Given the description of an element on the screen output the (x, y) to click on. 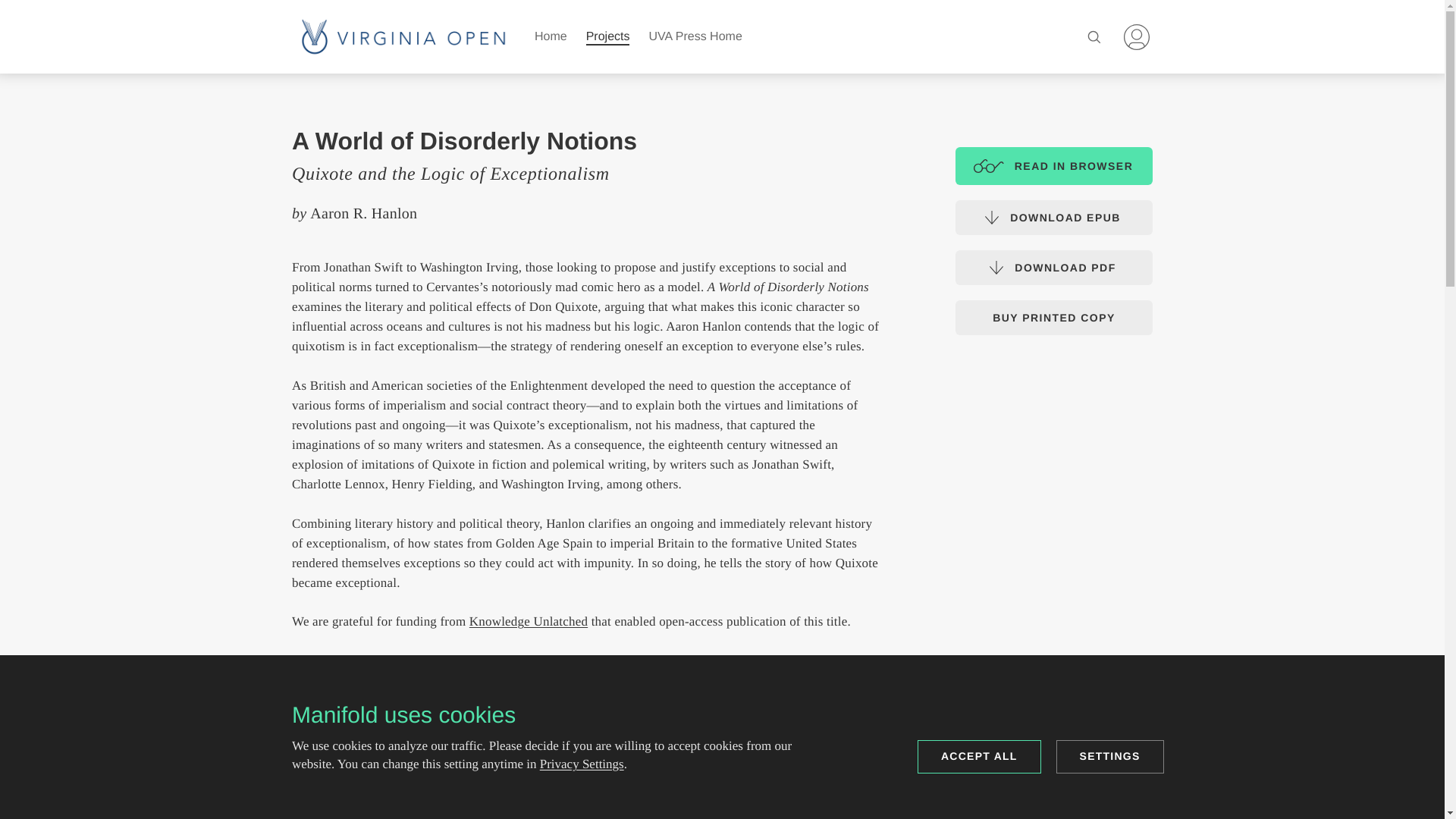
DOWNLOAD PDF (1054, 267)
READ IN BROWSER (1054, 166)
BUY PRINTED COPY (1054, 317)
Knowledge Unlatched (528, 621)
UVA Press Home (694, 36)
Projects (608, 36)
DOWNLOAD EPUB (1054, 217)
Return to home (403, 36)
Home (1137, 37)
